Given the description of an element on the screen output the (x, y) to click on. 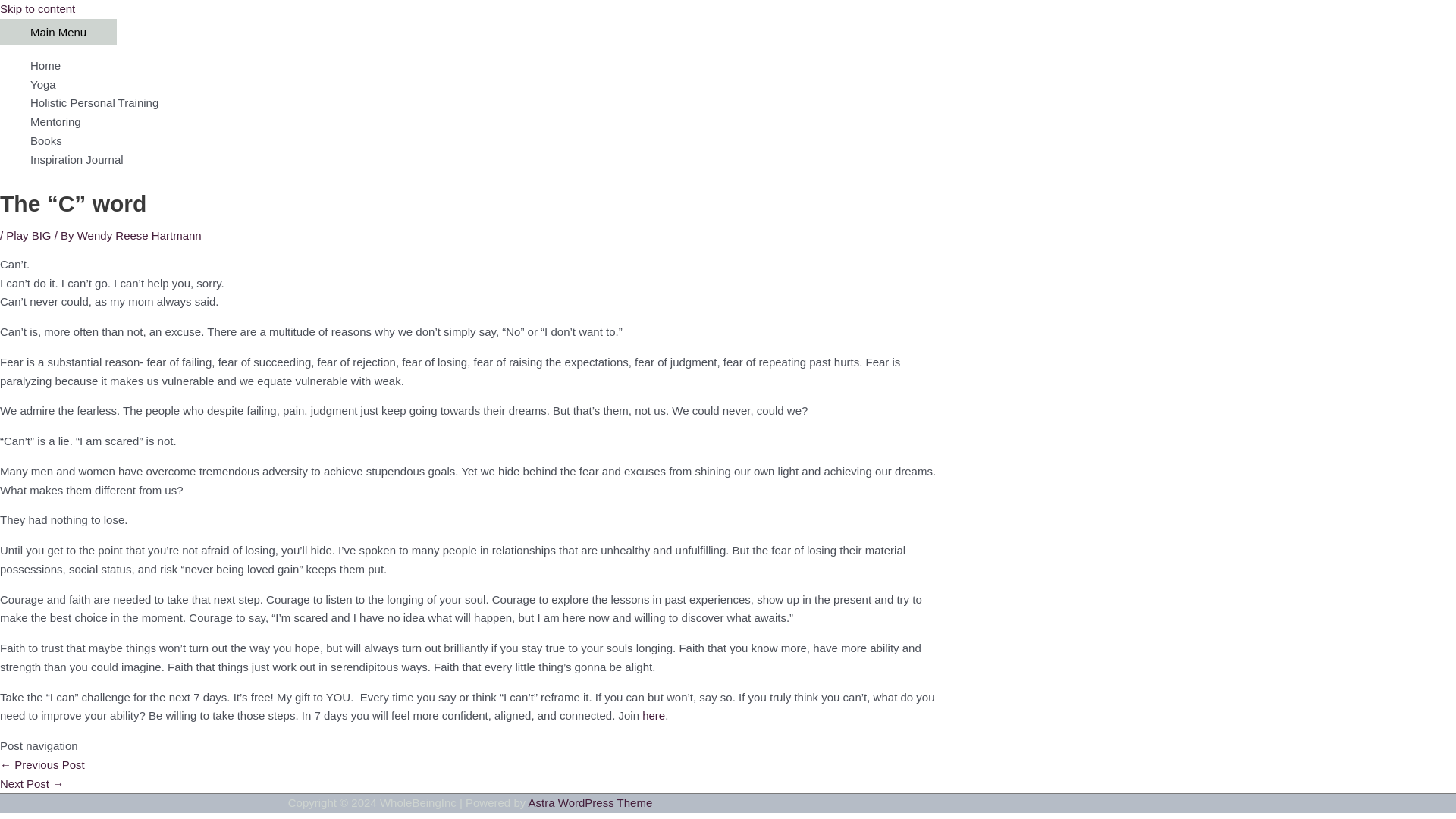
Books (485, 140)
Inspiration Journal (485, 158)
Yoga (485, 85)
Play BIG (27, 235)
Main Menu (58, 31)
Skip to content (37, 8)
Mentoring (485, 122)
wbz122 (42, 764)
Holistic Personal Training (485, 103)
wbz123 (32, 783)
Astra WordPress Theme (590, 802)
Skip to content (37, 8)
here (653, 715)
Home (485, 66)
View all posts by Wendy Reese Hartmann (139, 235)
